Given the description of an element on the screen output the (x, y) to click on. 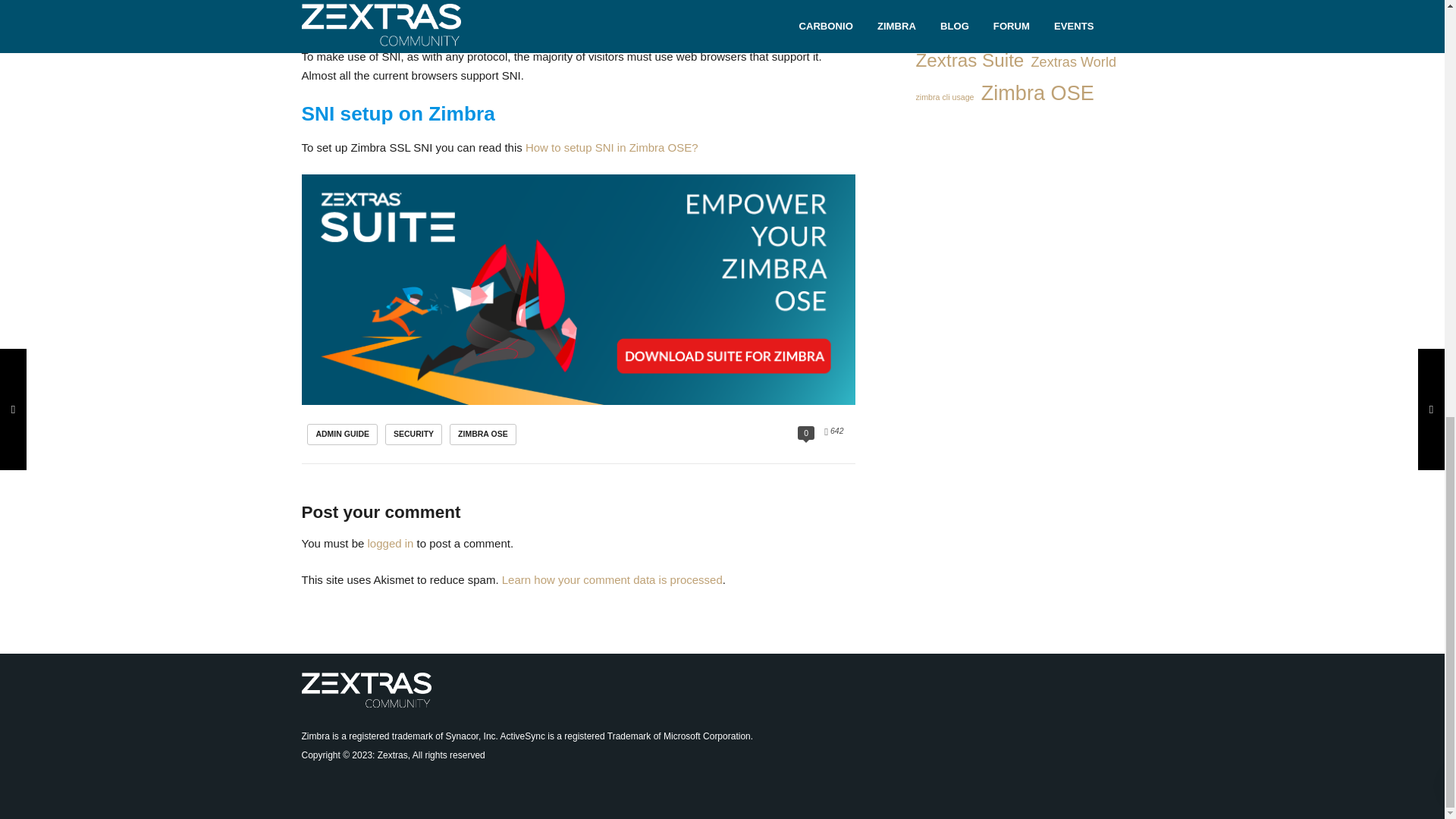
Learn how your comment data is processed (612, 579)
0 (805, 432)
SECURITY (413, 434)
ADMIN GUIDE (342, 434)
logged in (390, 543)
How to setup SNI in Zimbra OSE? (611, 146)
ZIMBRA OSE (482, 434)
